Given the description of an element on the screen output the (x, y) to click on. 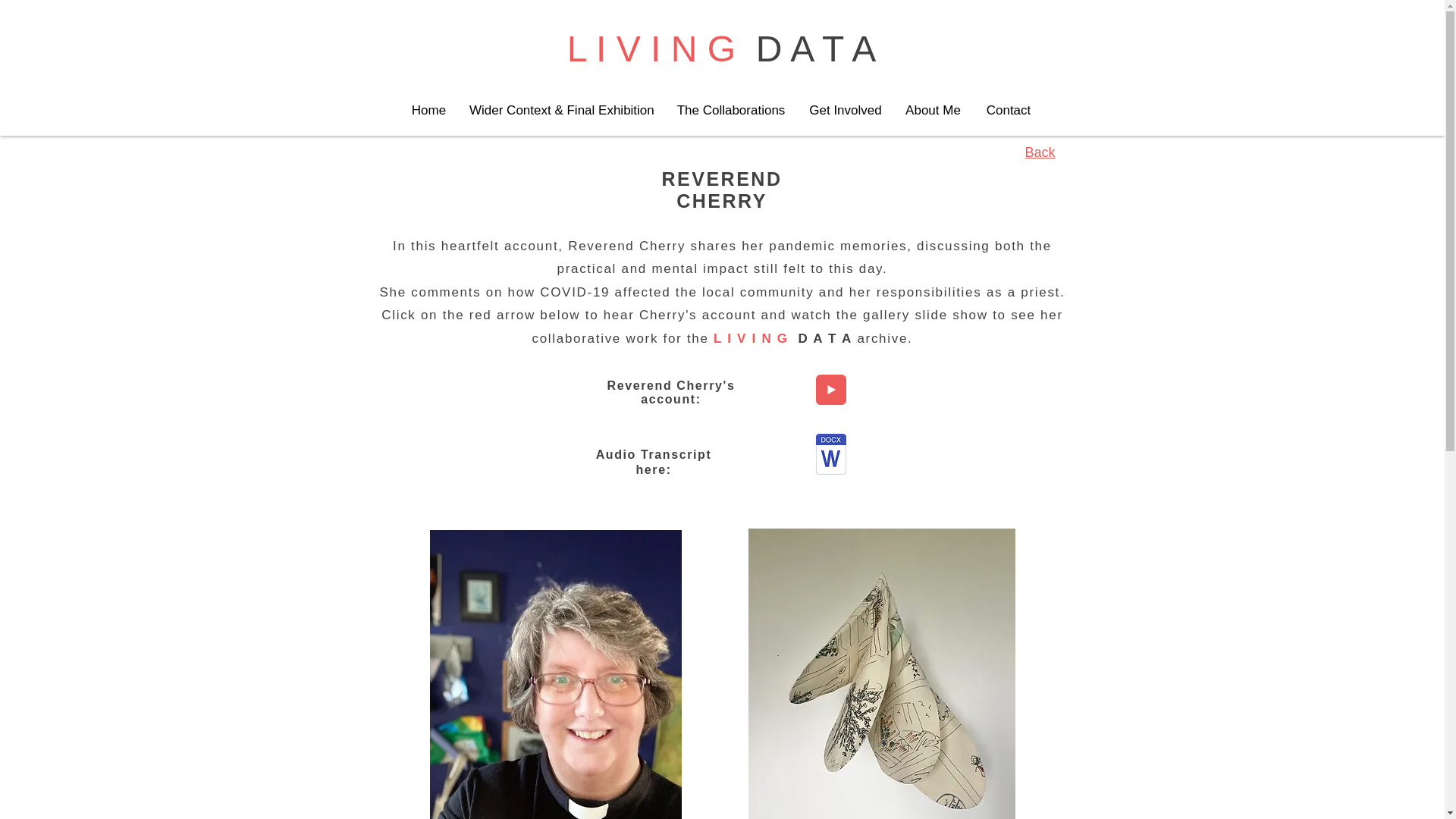
Get Involved (845, 110)
The Collaborations (730, 110)
L I V I N G  D A T A (721, 48)
About Me (932, 110)
Back (1039, 153)
Home (428, 110)
Contact (1007, 110)
